Given the description of an element on the screen output the (x, y) to click on. 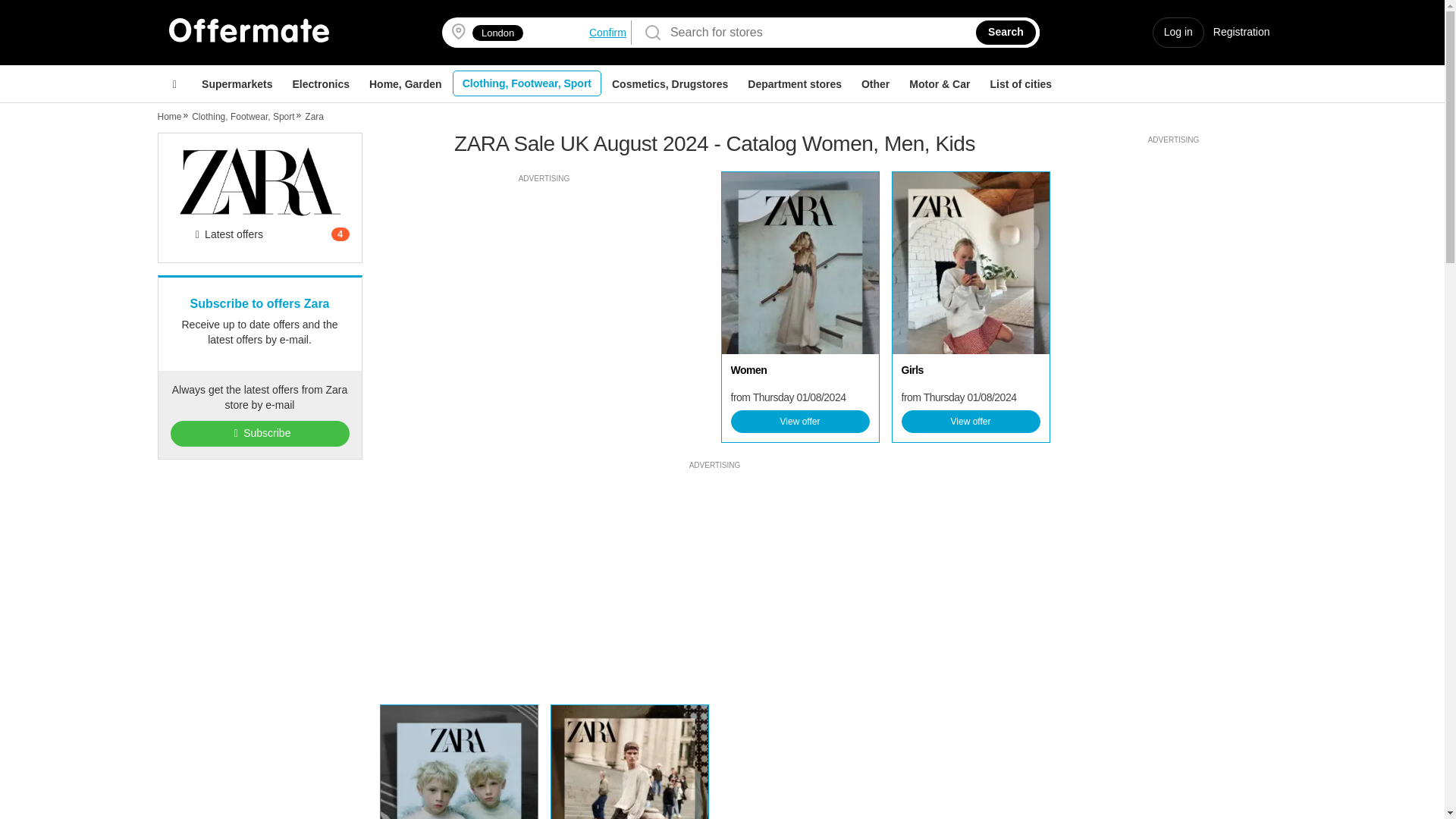
Confirm (607, 32)
Supermarkets (236, 84)
Offermate.co.uk (248, 30)
Electronics (320, 84)
Search (1005, 32)
Clothing, Footwear, Sport (526, 83)
Advertisement (543, 292)
Home, Garden (405, 84)
